Given the description of an element on the screen output the (x, y) to click on. 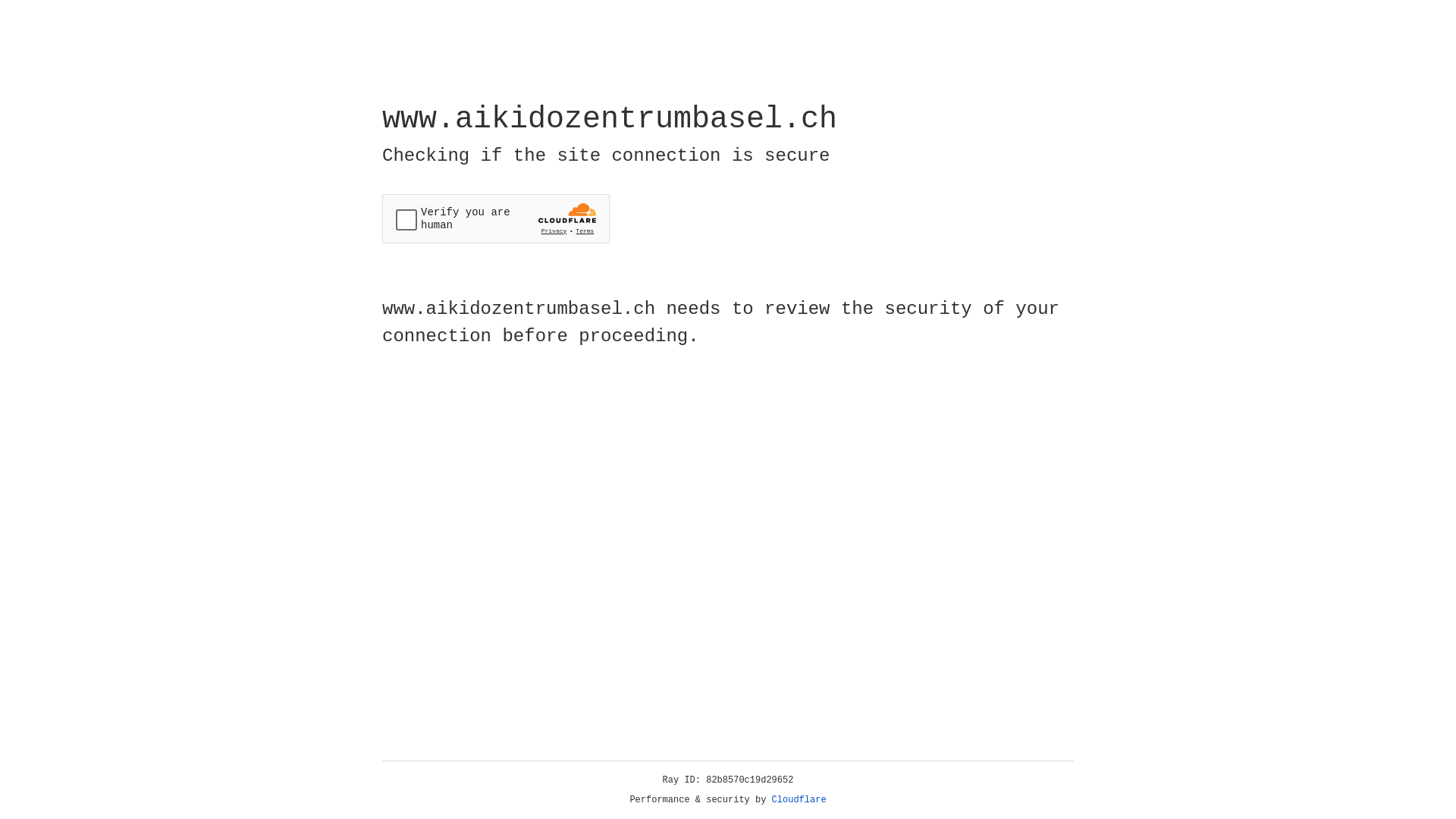
Cloudflare Element type: text (798, 799)
Widget containing a Cloudflare security challenge Element type: hover (495, 218)
